Given the description of an element on the screen output the (x, y) to click on. 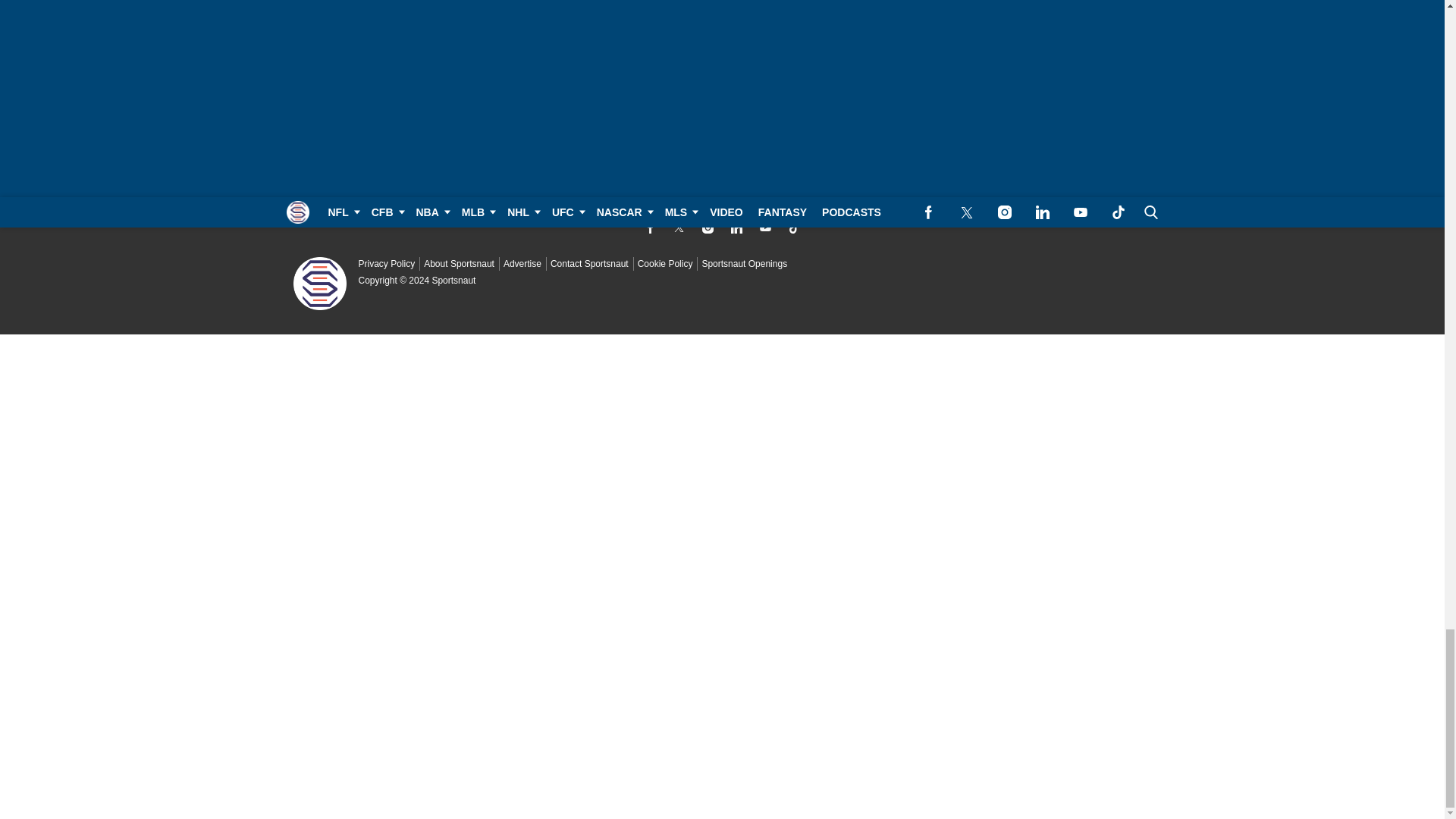
Follow us on Facebook (650, 227)
Connect with us on LinkedIn (736, 227)
Connect with us on TikTok (794, 227)
Follow us on Twitter (678, 227)
Subscribe to our YouTube channel (765, 227)
Follow us on Instagram (707, 227)
